Given the description of an element on the screen output the (x, y) to click on. 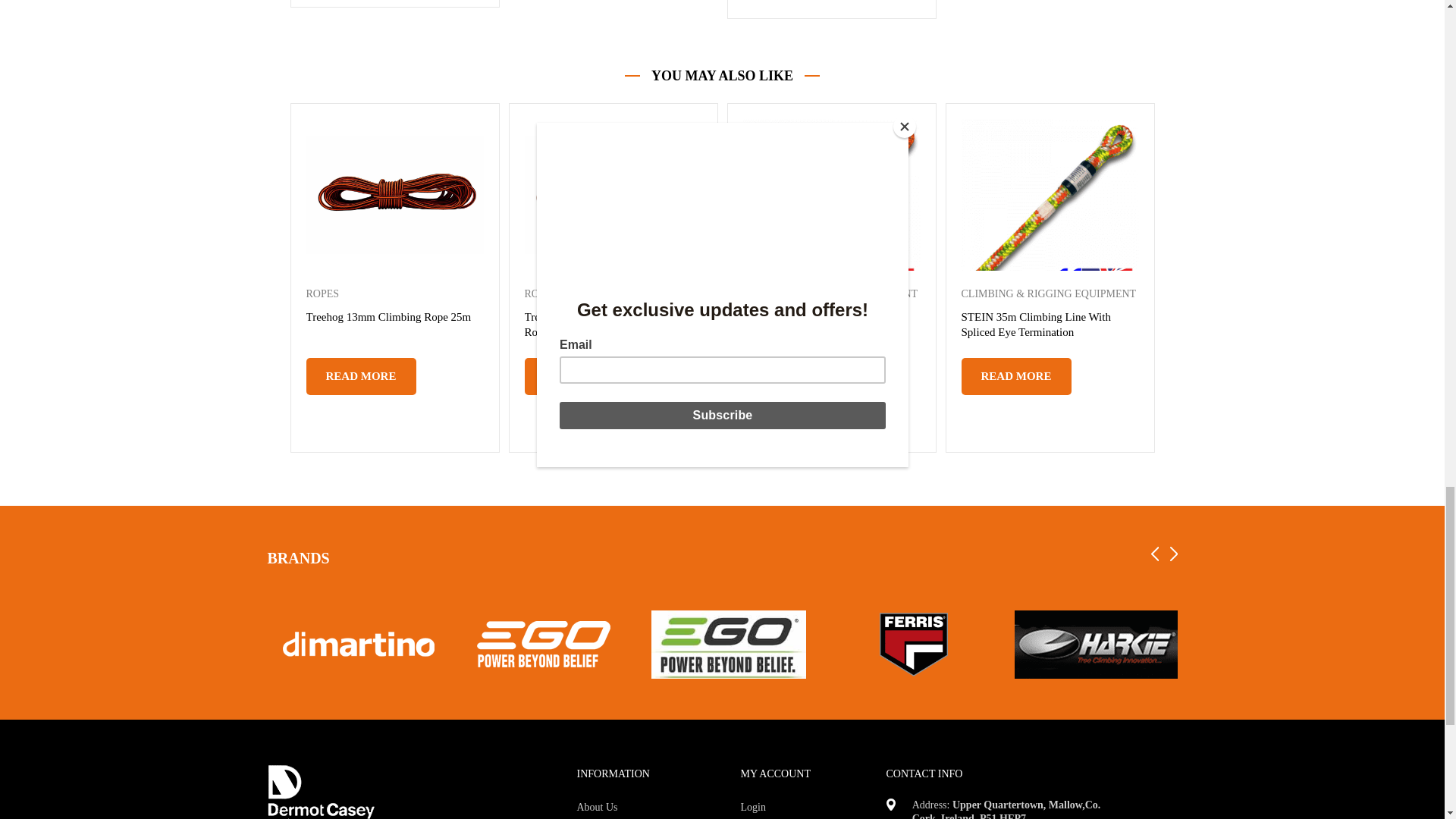
dermotcasey (320, 791)
